Given the description of an element on the screen output the (x, y) to click on. 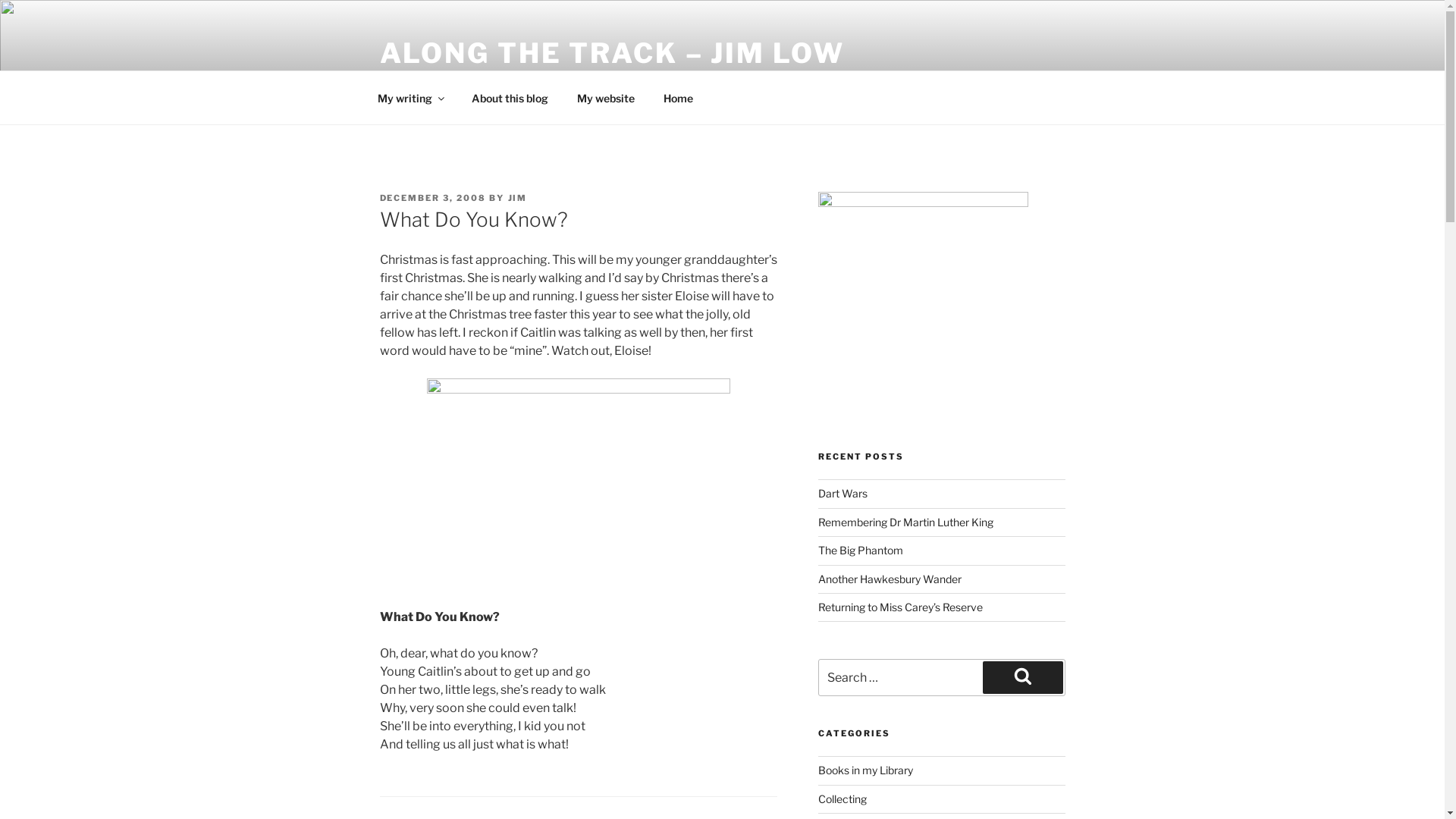
My writing Element type: text (409, 97)
DECEMBER 3, 2008 Element type: text (432, 197)
My website Element type: text (606, 97)
Search Element type: text (1022, 677)
The Big Phantom Element type: text (860, 549)
Books in my Library Element type: text (865, 769)
About this blog Element type: text (509, 97)
Collecting Element type: text (842, 797)
Remembering Dr Martin Luther King Element type: text (905, 521)
Home Element type: text (678, 97)
Another Hawkesbury Wander Element type: text (889, 578)
Dart Wars Element type: text (842, 492)
JIM Element type: text (517, 197)
